Given the description of an element on the screen output the (x, y) to click on. 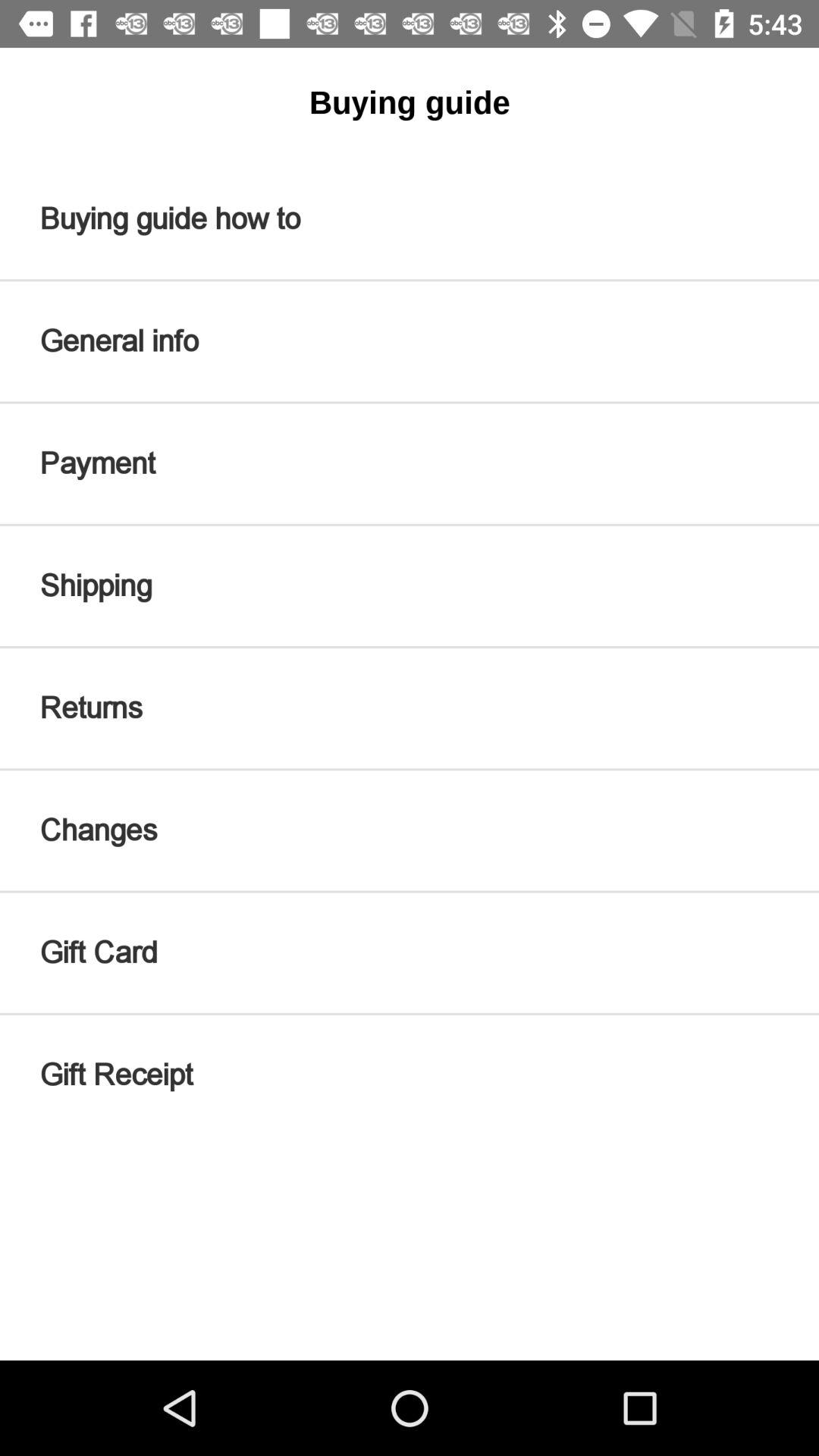
scroll until changes (409, 830)
